Given the description of an element on the screen output the (x, y) to click on. 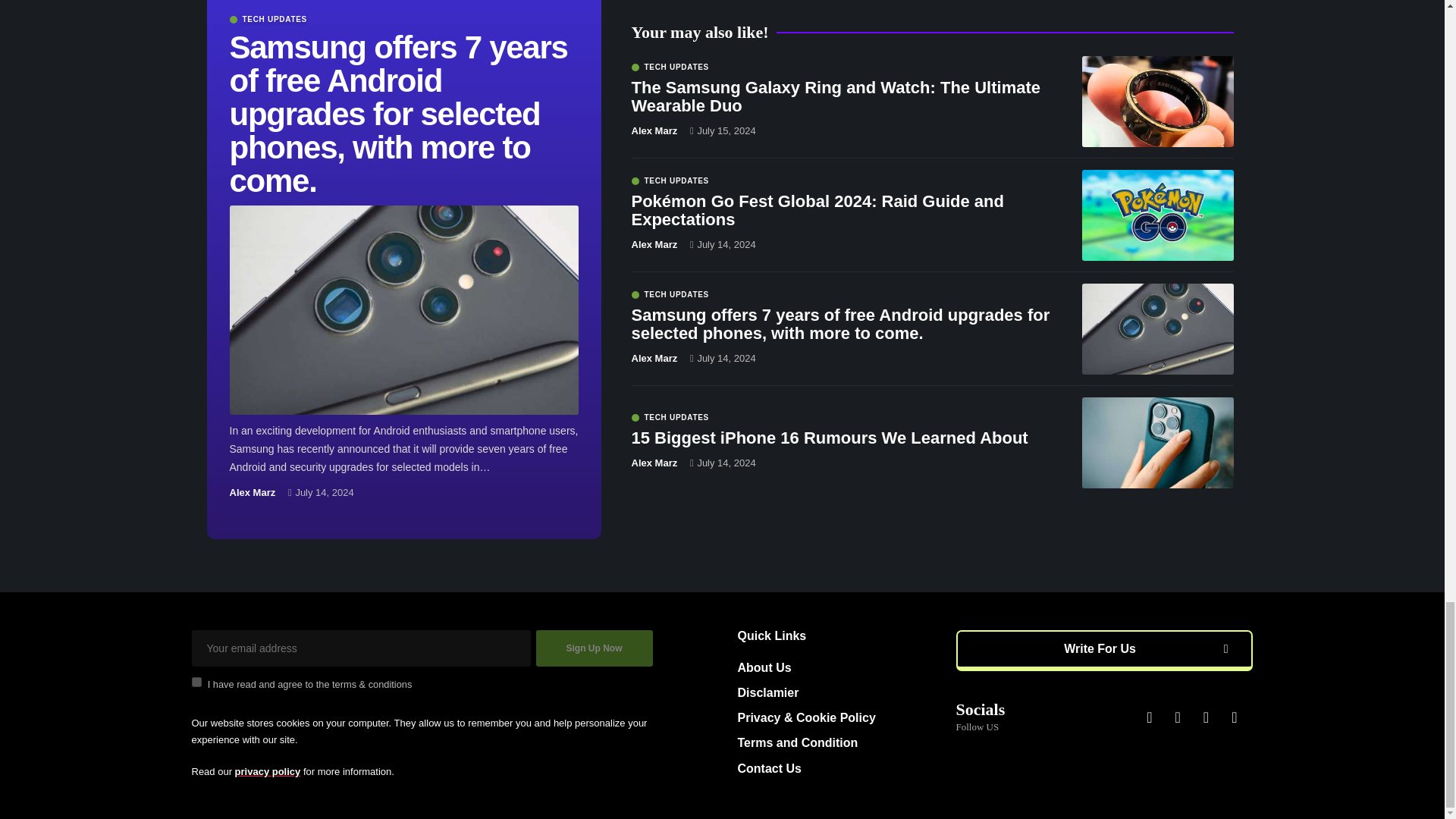
Sign Up Now (593, 647)
1 (195, 682)
